Given the description of an element on the screen output the (x, y) to click on. 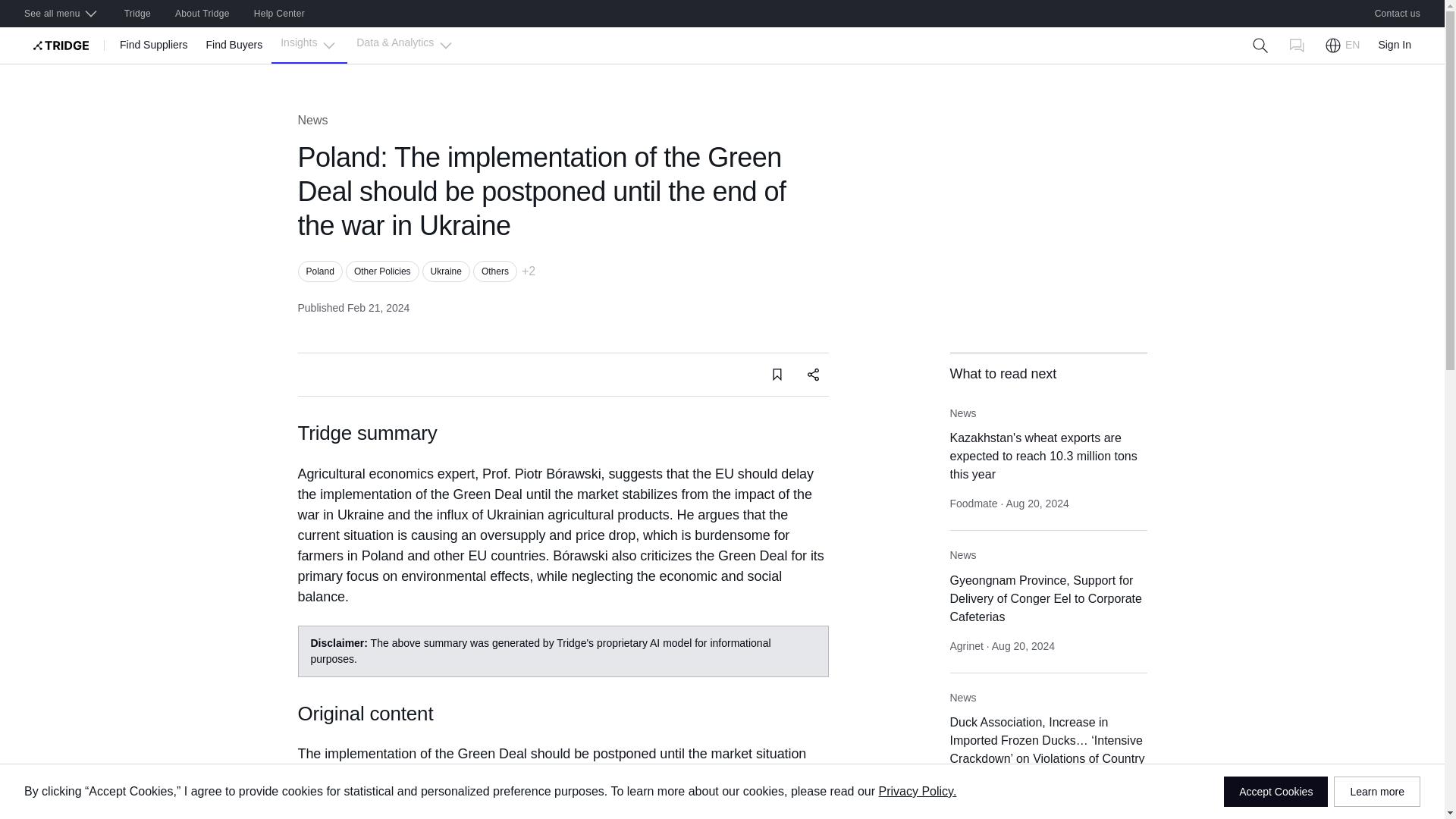
Tridge (137, 13)
About Tridge (202, 13)
Help Center (279, 13)
Contact us (1397, 13)
See all menu (61, 13)
